Given the description of an element on the screen output the (x, y) to click on. 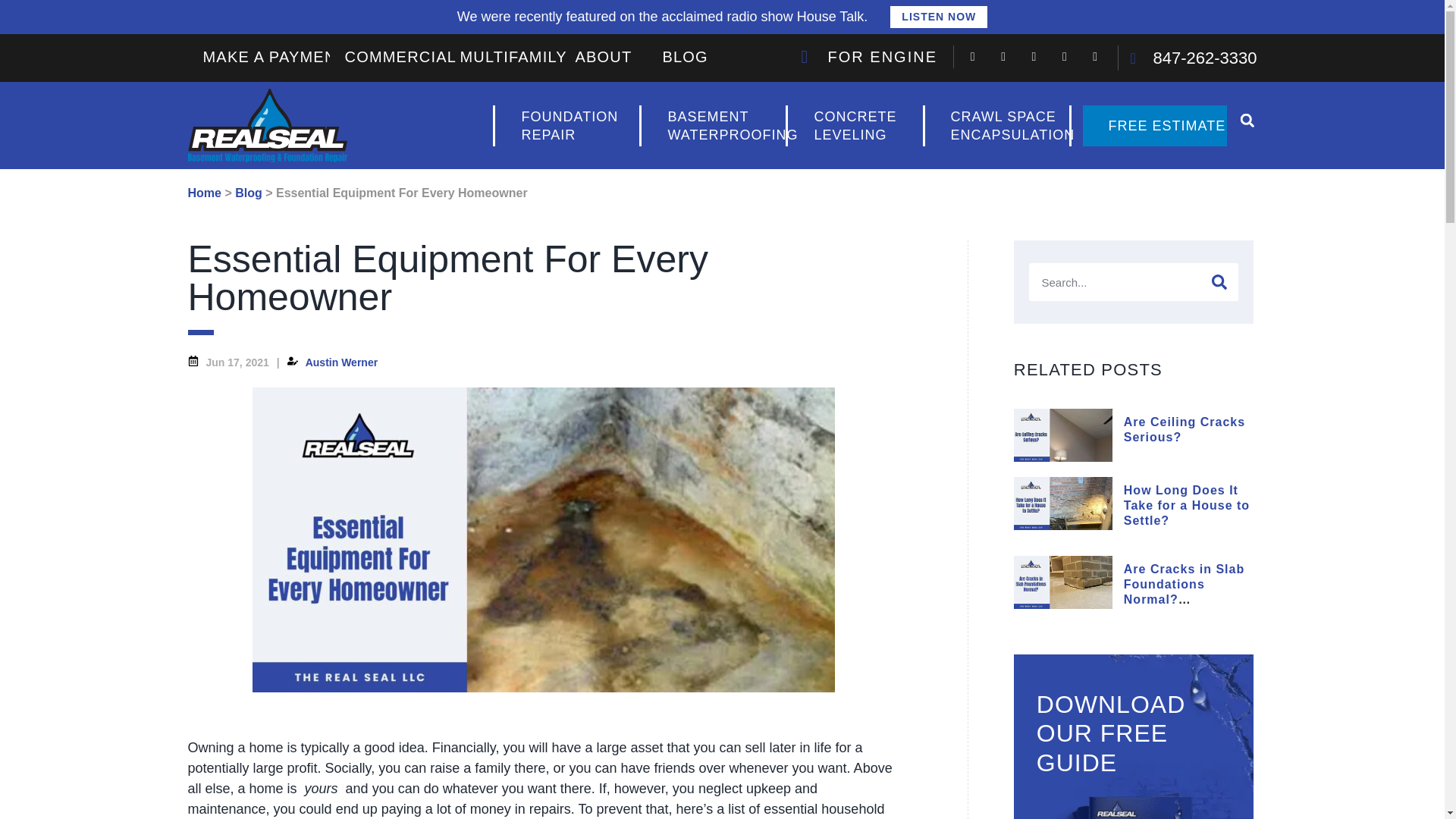
FREE ESTIMATE (1155, 124)
ABOUT (602, 56)
COMMERCIAL (996, 124)
FOR ENGINEERS (400, 56)
LISTEN NOW (869, 56)
MAKE A PAYMENT (938, 16)
MULTIFAMILY (854, 124)
